Given the description of an element on the screen output the (x, y) to click on. 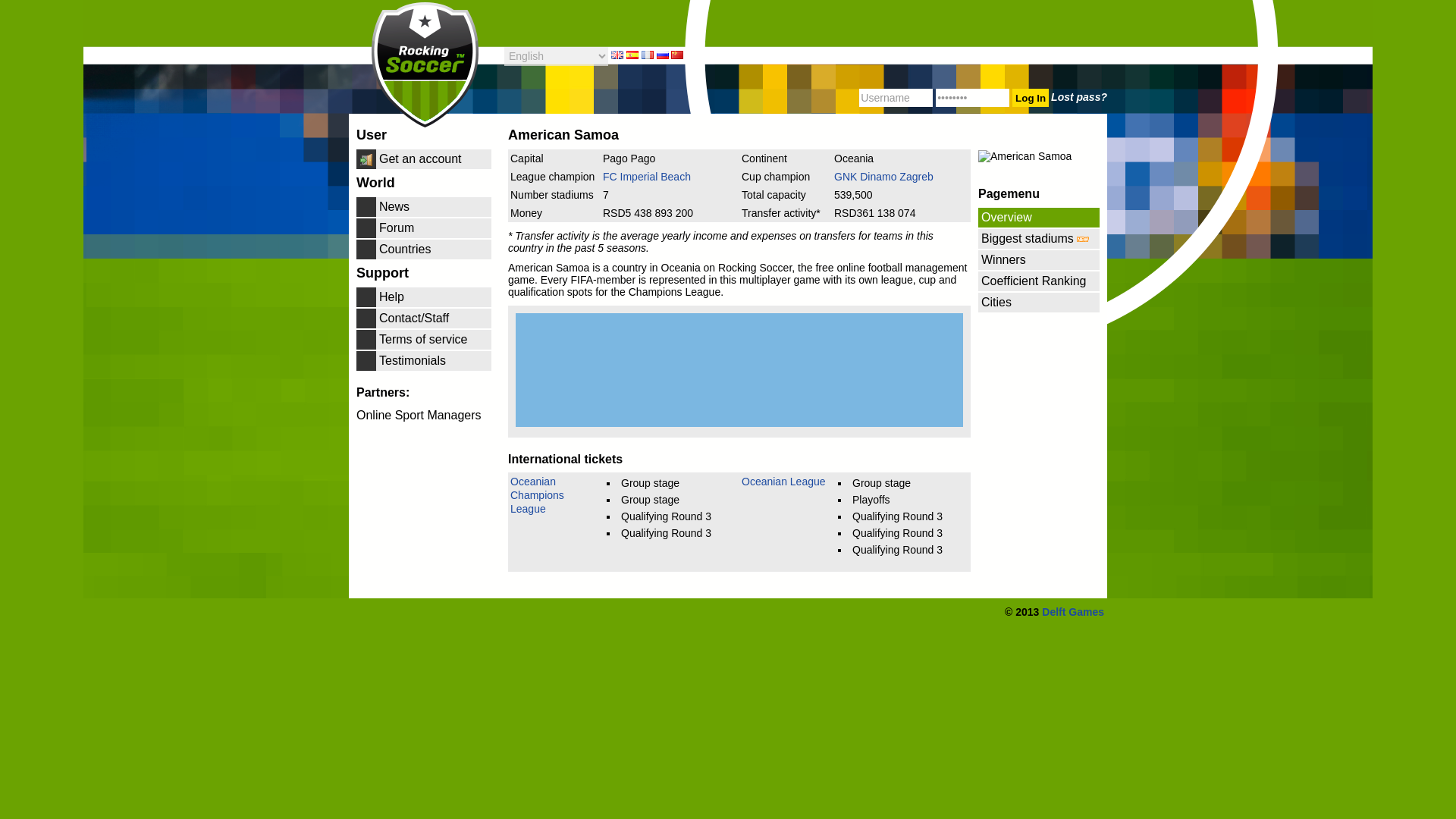
Online Sport Managers (424, 415)
Winners (1038, 260)
Oceanian League (783, 481)
 Testimonials (424, 361)
 Terms of service (424, 339)
Overview (1038, 217)
American Samoa - Rocking Soccer (727, 47)
GNK Dinamo Zagreb (883, 176)
Oceanian Champions League (537, 495)
Username (896, 97)
